Given the description of an element on the screen output the (x, y) to click on. 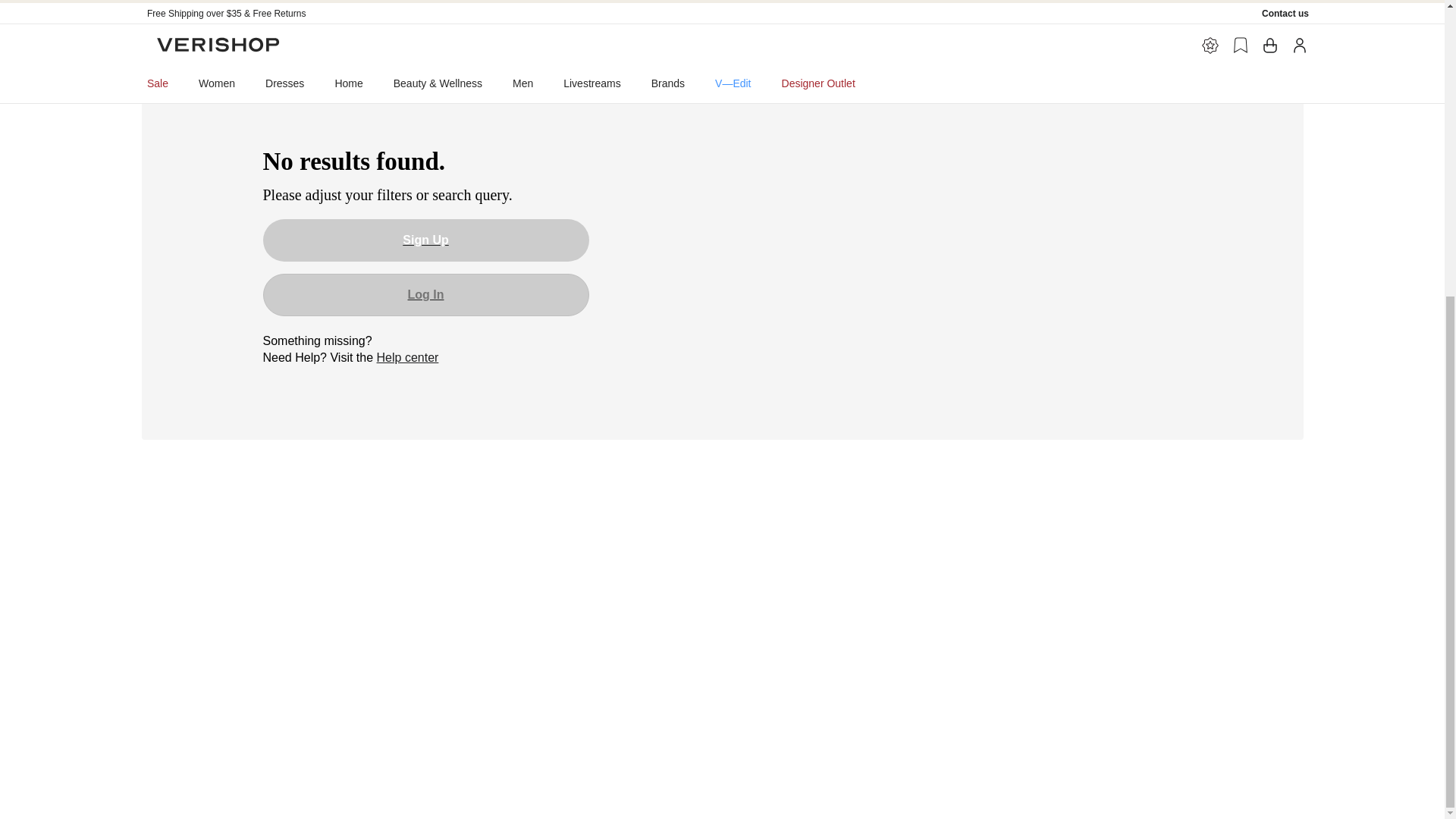
Sign Up (425, 240)
Log In (425, 294)
Filter (171, 52)
Help center (408, 357)
